Given the description of an element on the screen output the (x, y) to click on. 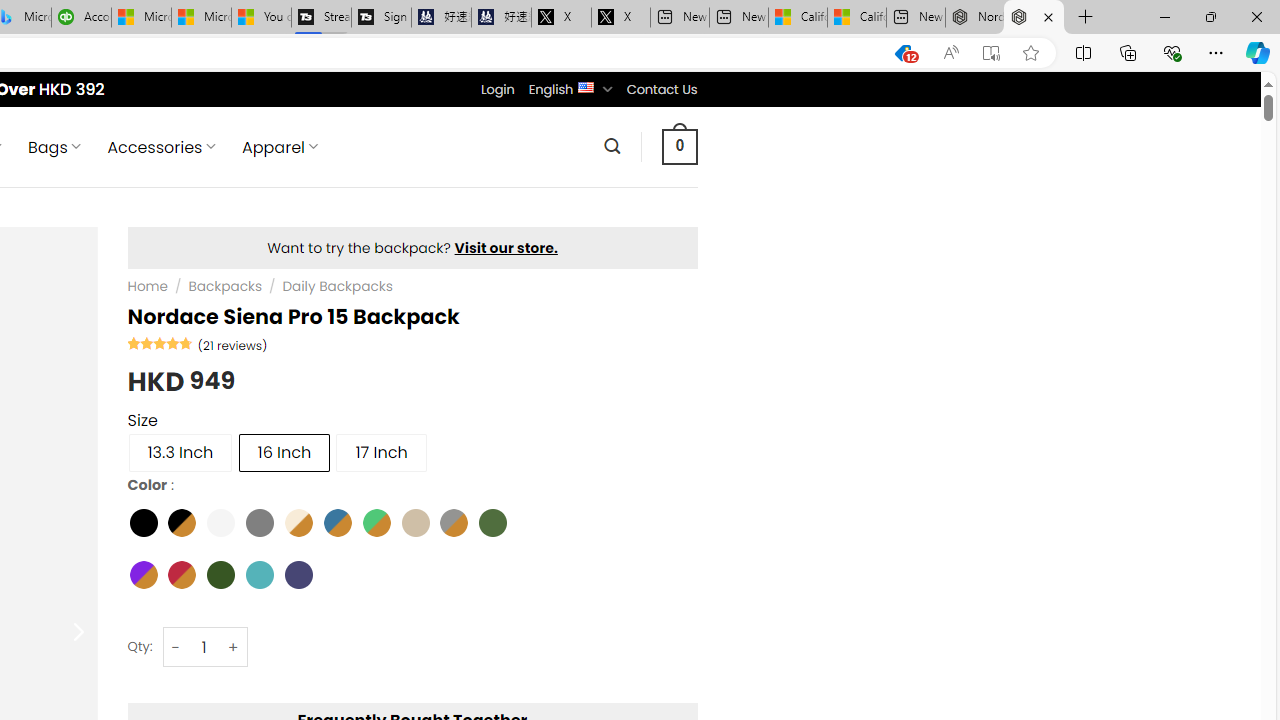
Accounting Software for Accountants, CPAs and Bookkeepers (81, 17)
Login (497, 89)
English (586, 86)
Home (147, 286)
Contact Us (661, 89)
(21 reviews) (232, 344)
Nordace Siena Pro 15 Backpack quantity (204, 647)
Enter Immersive Reader (F9) (991, 53)
13.3 Inch (180, 452)
